Given the description of an element on the screen output the (x, y) to click on. 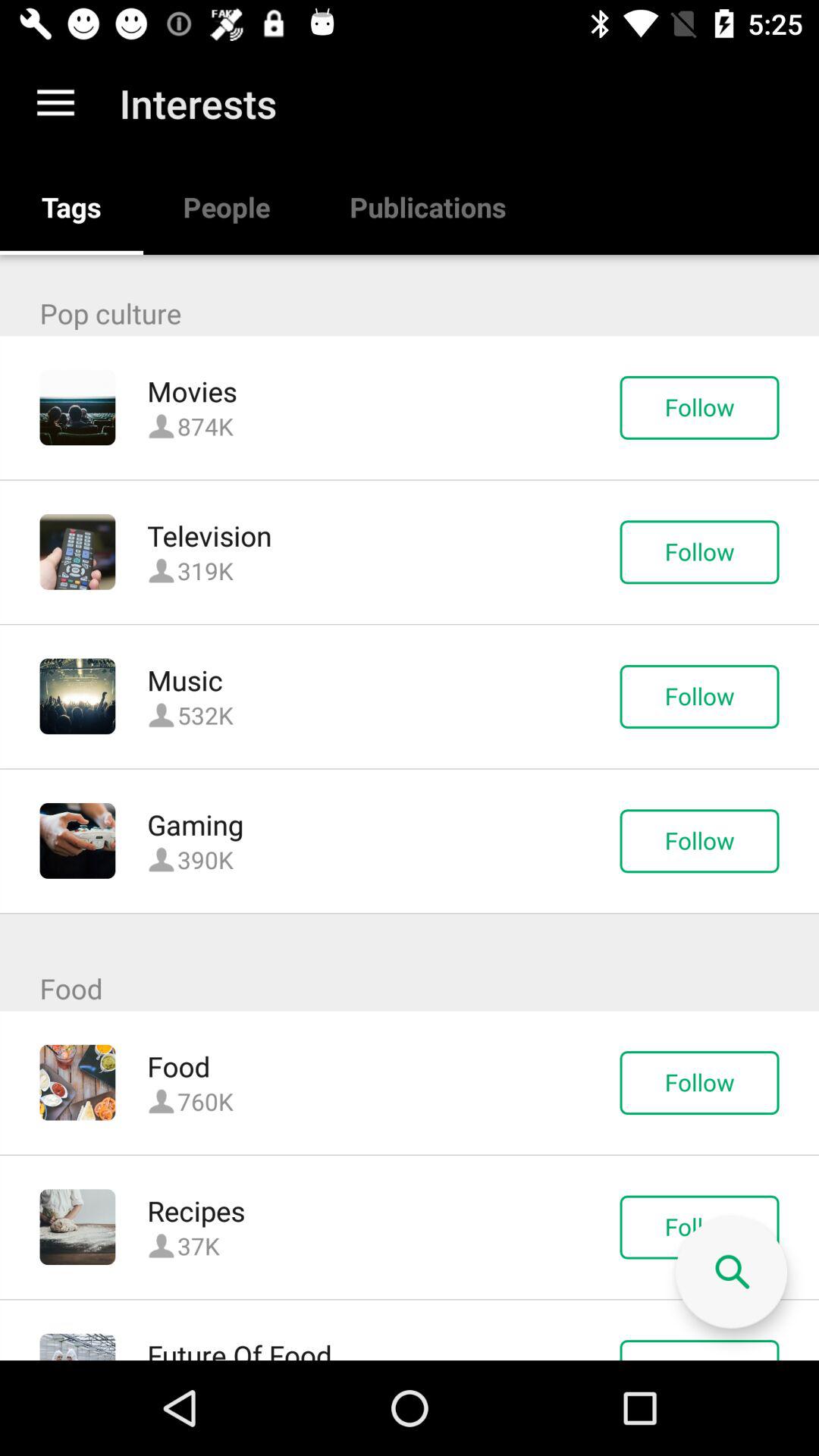
turn on the icon above the follow icon (731, 1272)
